Given the description of an element on the screen output the (x, y) to click on. 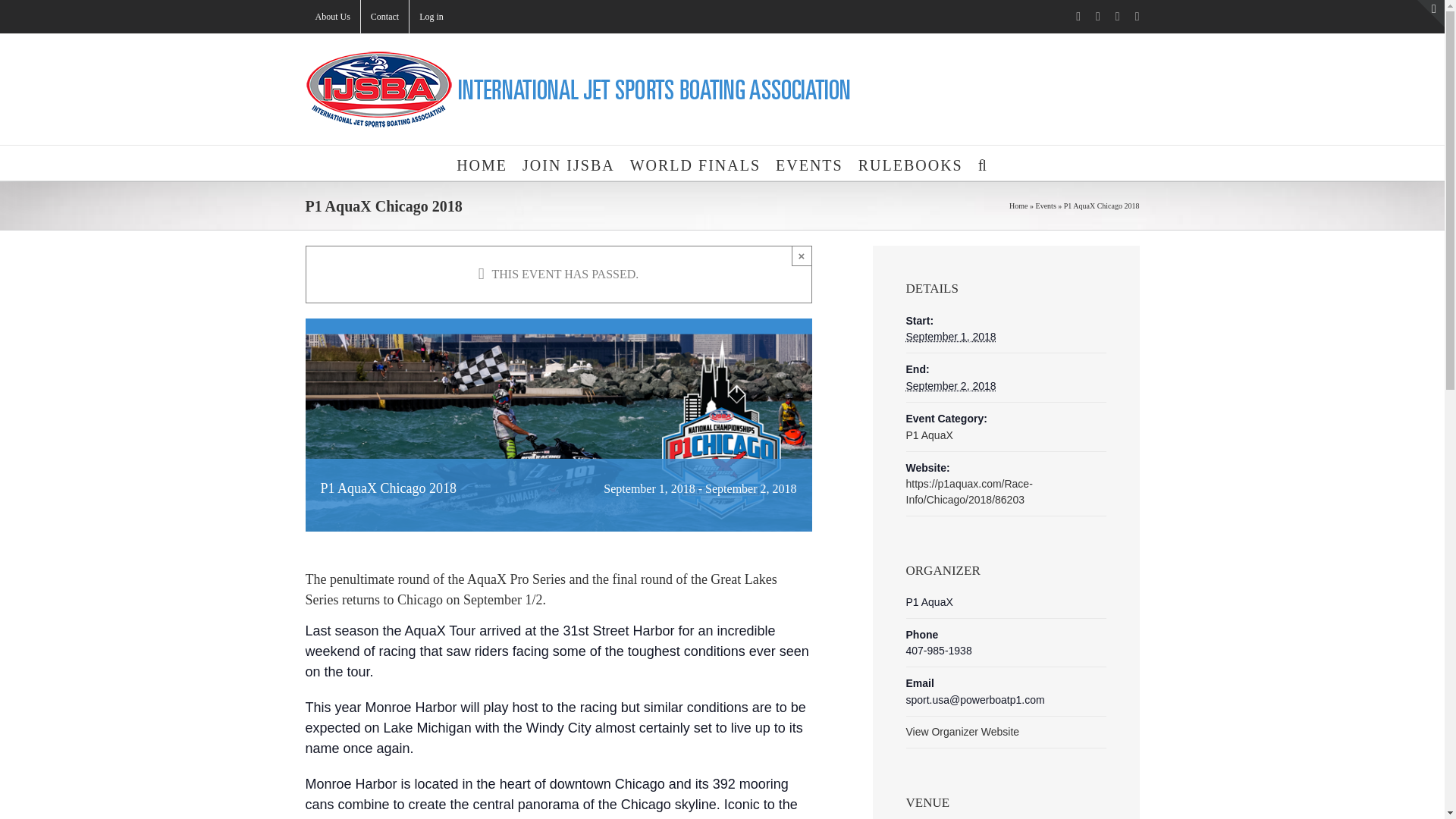
HOME (481, 162)
EVENTS (809, 162)
About Us (331, 16)
JOIN IJSBA (568, 162)
Contact (385, 16)
WORLD FINALS (695, 162)
Home (1018, 205)
Events (1046, 205)
Log in (430, 16)
RULEBOOKS (910, 162)
